Given the description of an element on the screen output the (x, y) to click on. 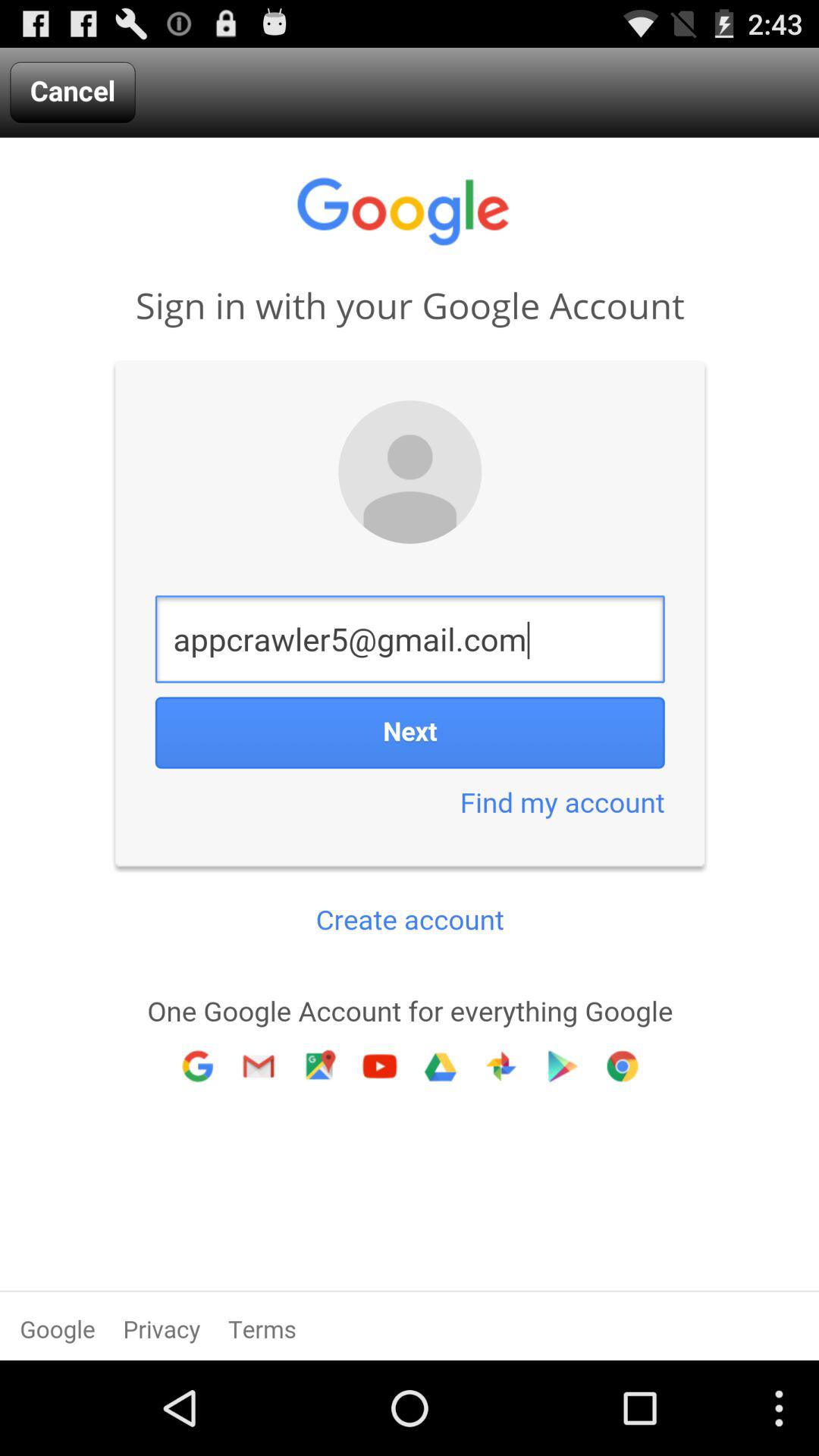
google sign in (409, 748)
